Given the description of an element on the screen output the (x, y) to click on. 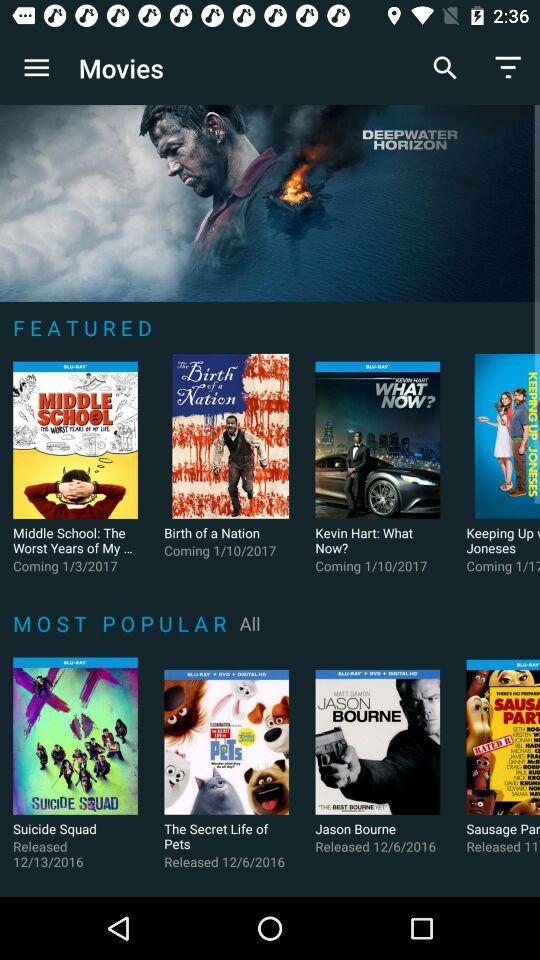
turn off the item below coming 1 10 (249, 623)
